Given the description of an element on the screen output the (x, y) to click on. 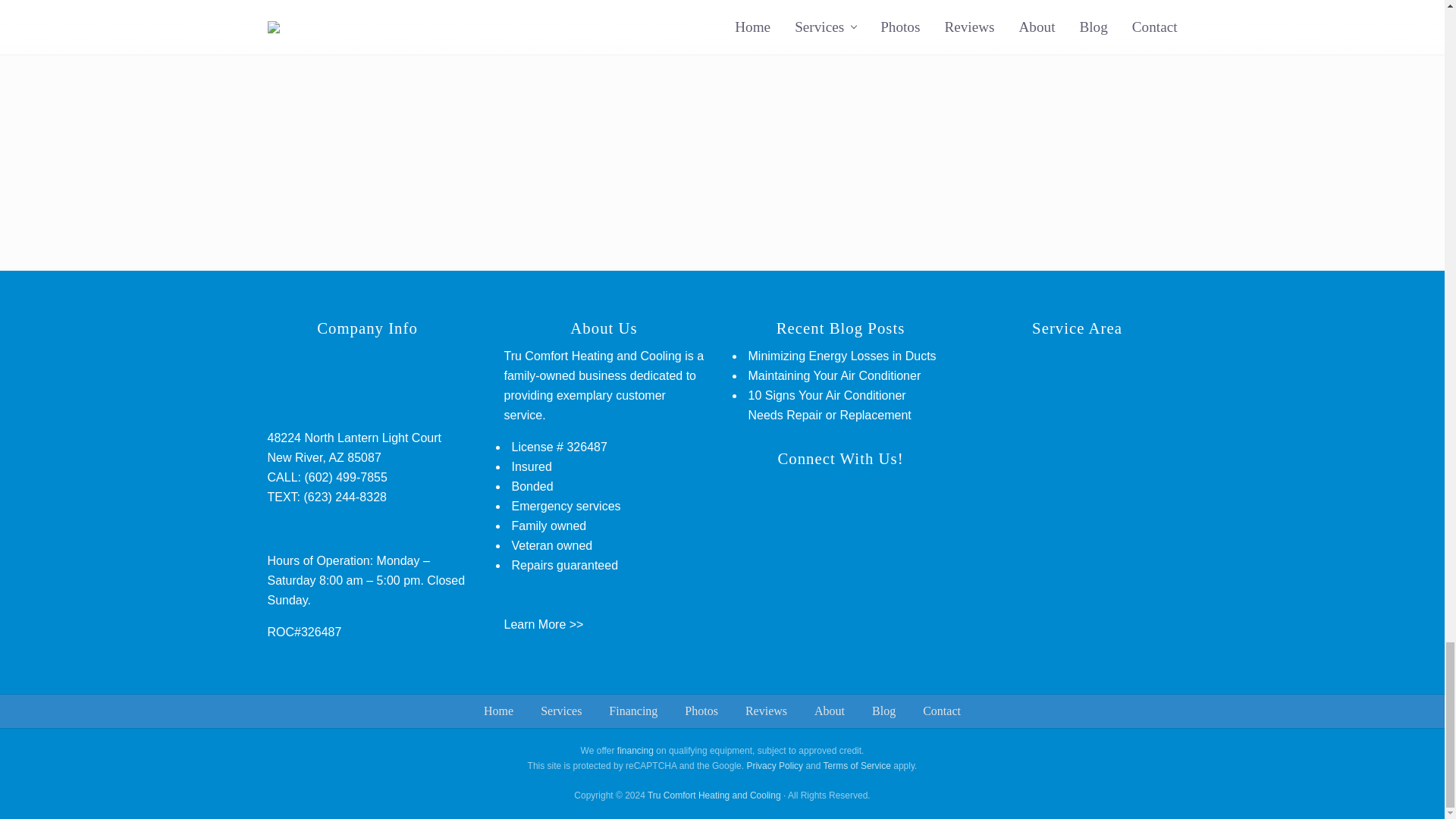
Tru Comfort Heating and Cooling (713, 795)
